Given the description of an element on the screen output the (x, y) to click on. 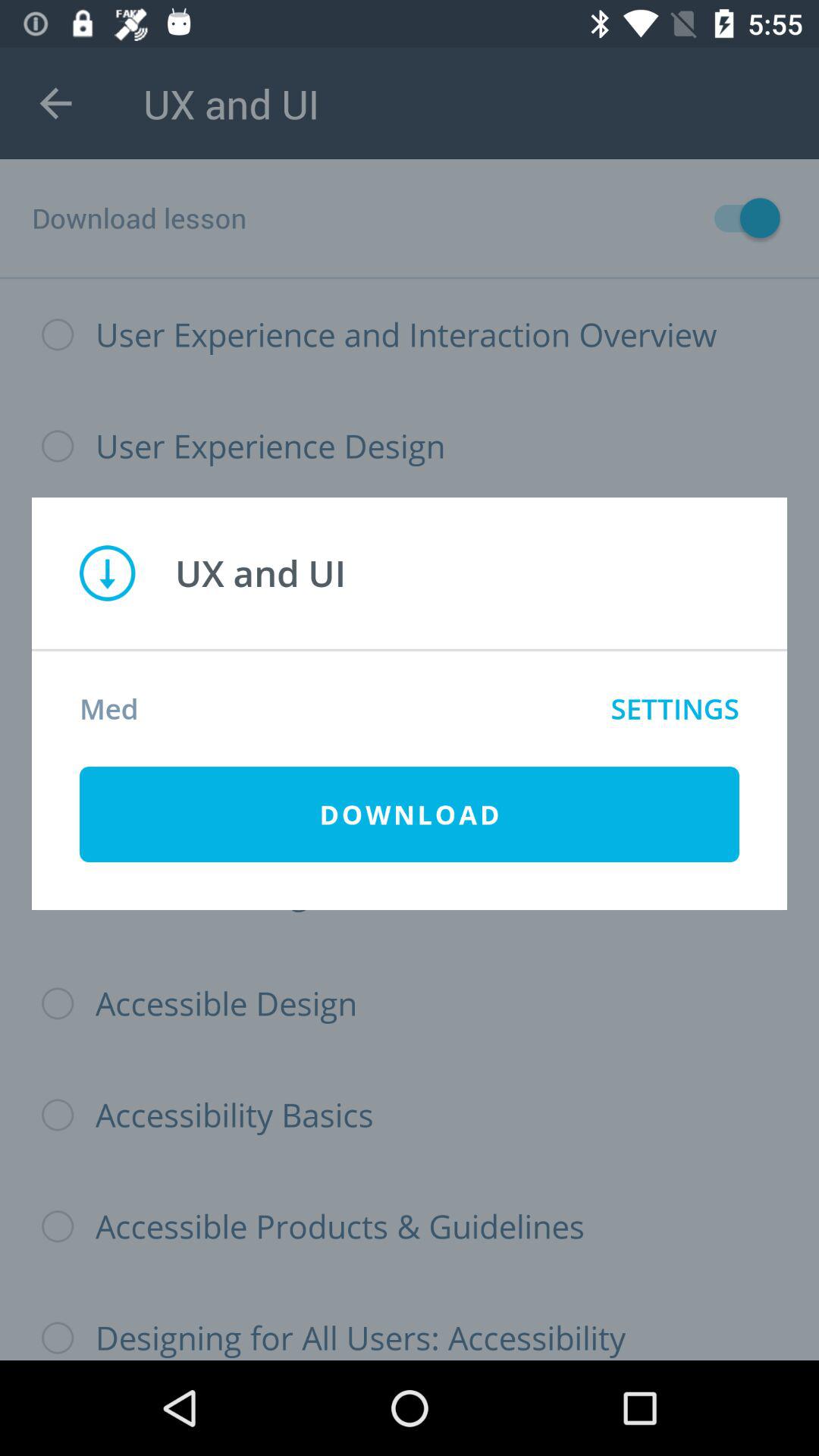
swipe until settings (674, 708)
